Given the description of an element on the screen output the (x, y) to click on. 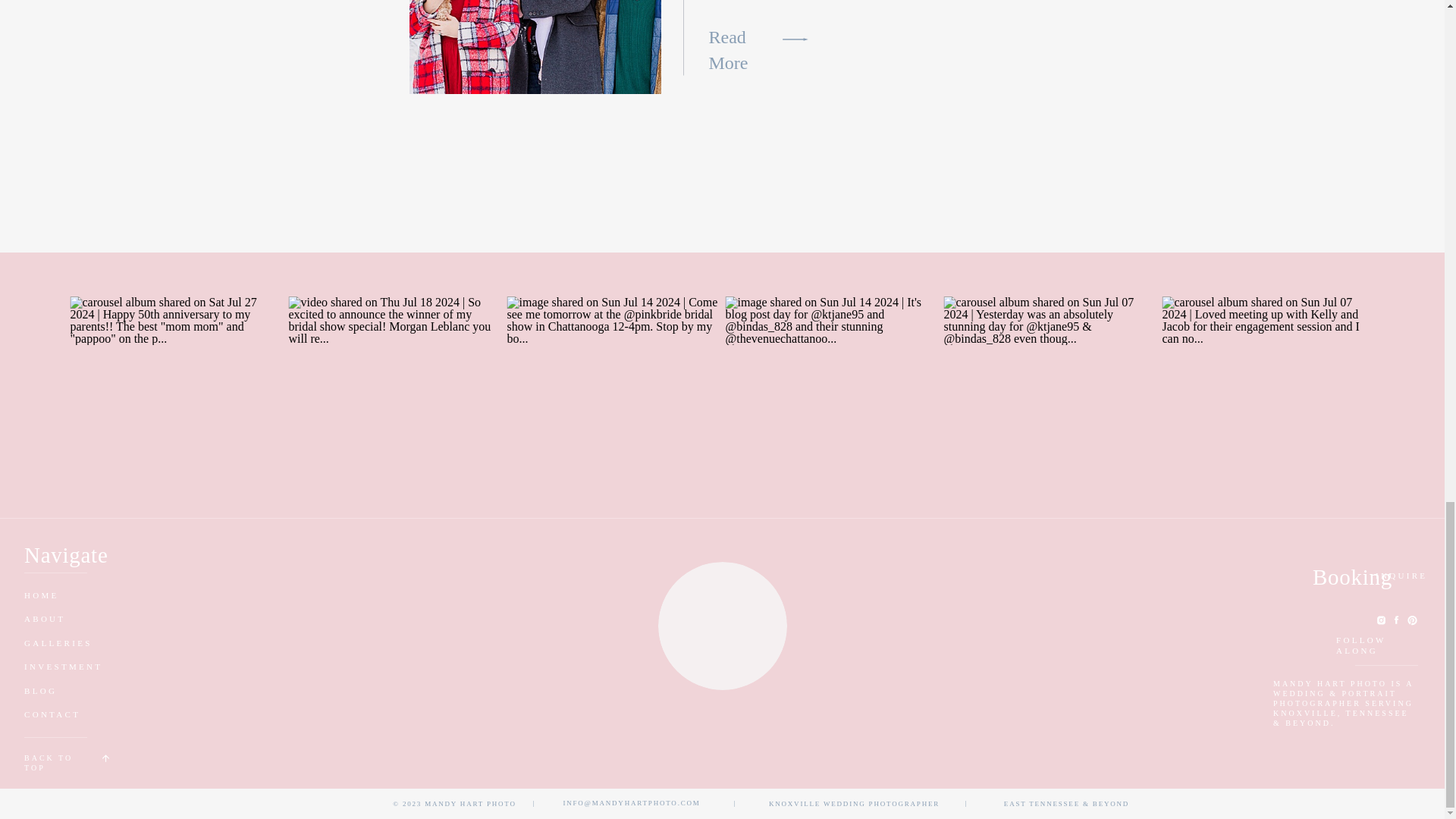
CONTACT (52, 715)
BLOG (52, 691)
INQUIRE (1406, 577)
GALLERIES (55, 644)
Booking (1344, 577)
FOLLOW ALONG (1381, 640)
Read More (742, 35)
HOME (43, 595)
BACK TO TOP (58, 758)
INVESTMENT (62, 666)
ABOUT (43, 619)
